Given the description of an element on the screen output the (x, y) to click on. 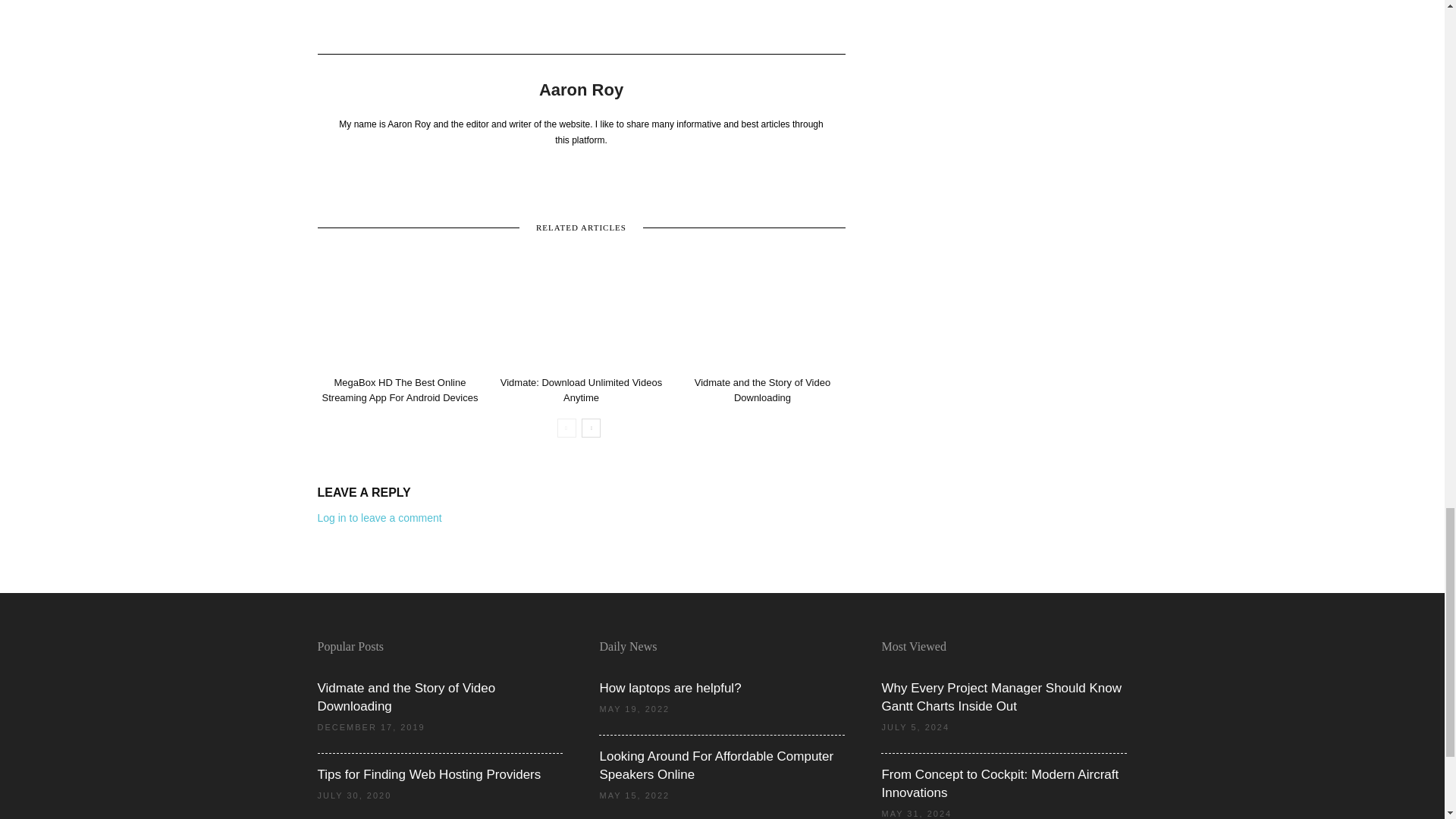
RELATED ARTICLES (581, 226)
Aaron Roy (580, 89)
MegaBox HD The Best Online Streaming App For Android Devices (399, 313)
